Given the description of an element on the screen output the (x, y) to click on. 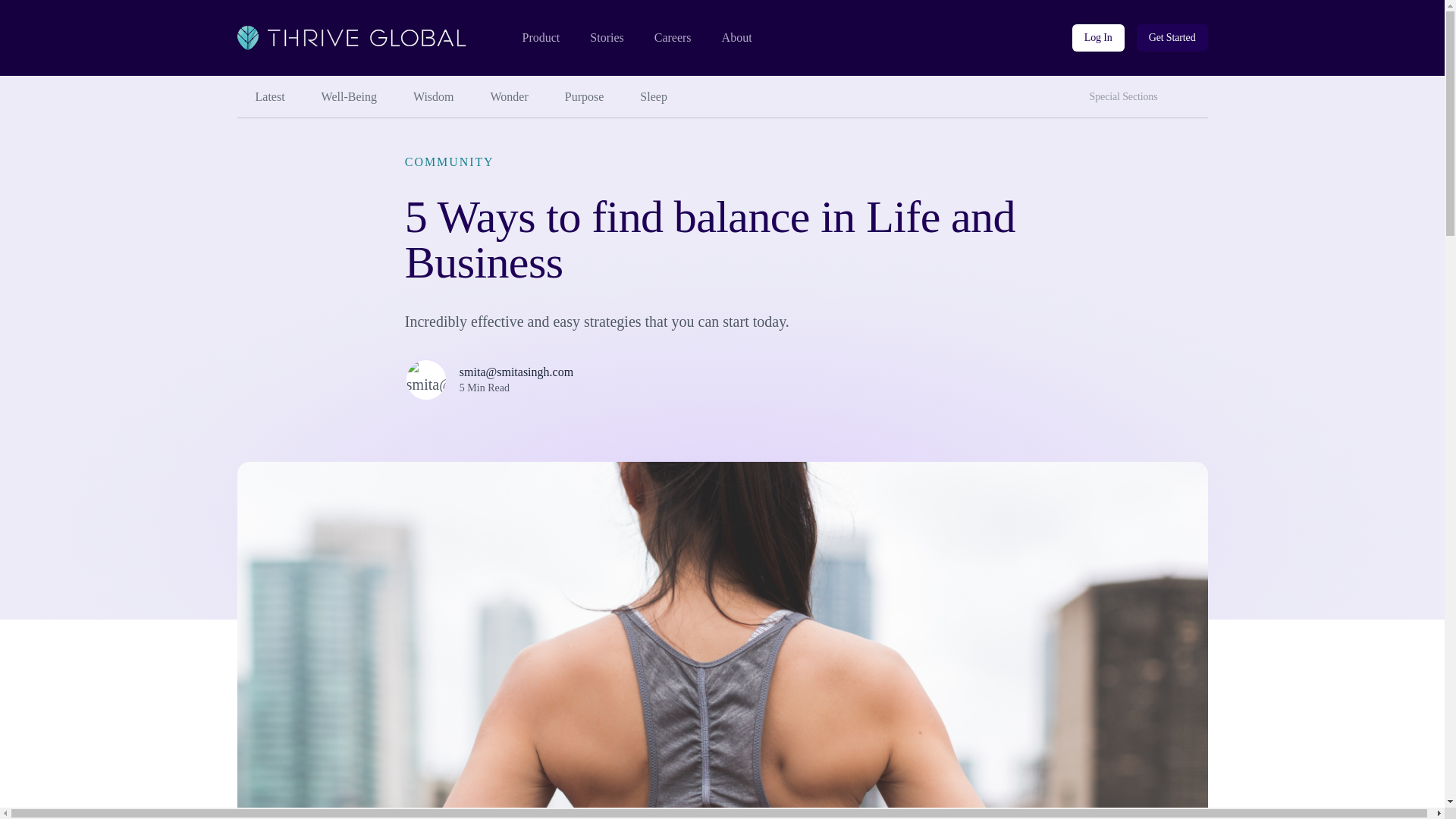
About (737, 37)
Special Sections (1126, 97)
Sleep (653, 96)
Wisdom (432, 96)
Product (540, 37)
Stories (606, 37)
Search site (1193, 91)
Get Started (1172, 37)
Wonder (509, 96)
Careers (672, 37)
Latest (268, 96)
Log In (1097, 37)
Well-Being (348, 96)
Purpose (585, 96)
